Given the description of an element on the screen output the (x, y) to click on. 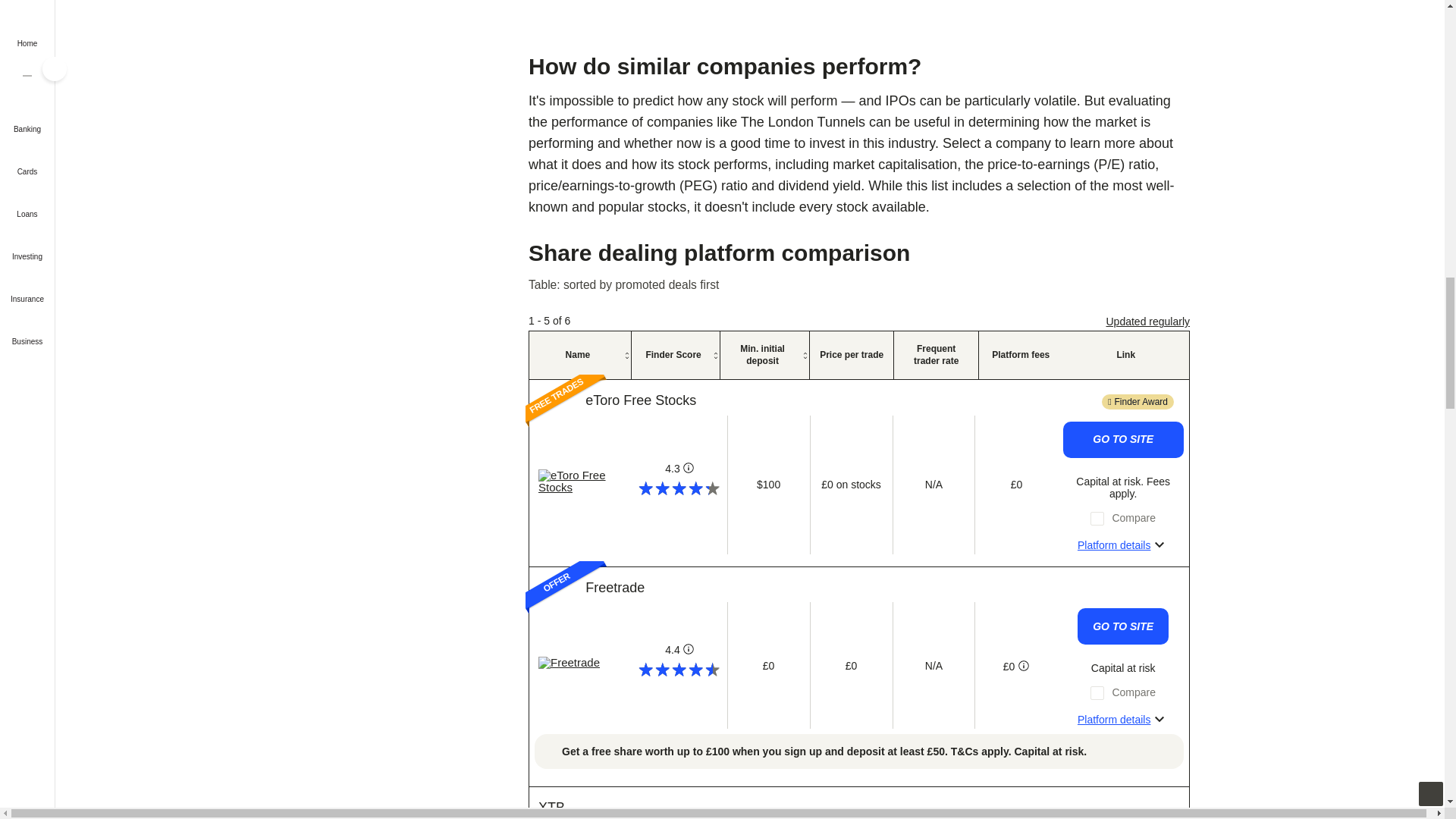
Visit eToro (580, 481)
Further details about the eToro Free Stocks (1122, 545)
Visit Freetrade (615, 587)
Visit eToro (640, 400)
Go to the eToro website to learn more about this product (1122, 439)
